Given the description of an element on the screen output the (x, y) to click on. 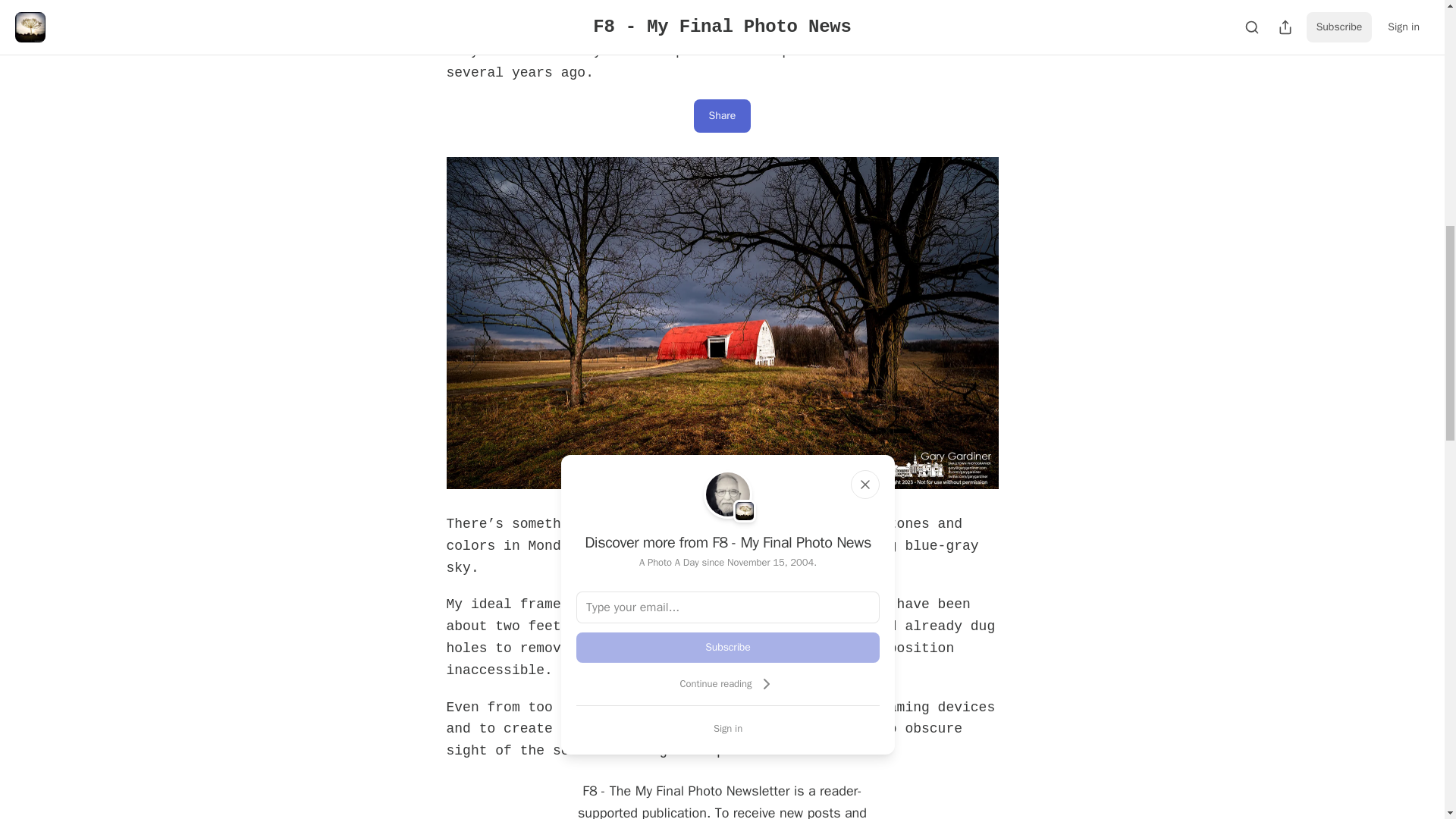
Sign in (727, 727)
Subscribe (727, 647)
Share (722, 115)
